Given the description of an element on the screen output the (x, y) to click on. 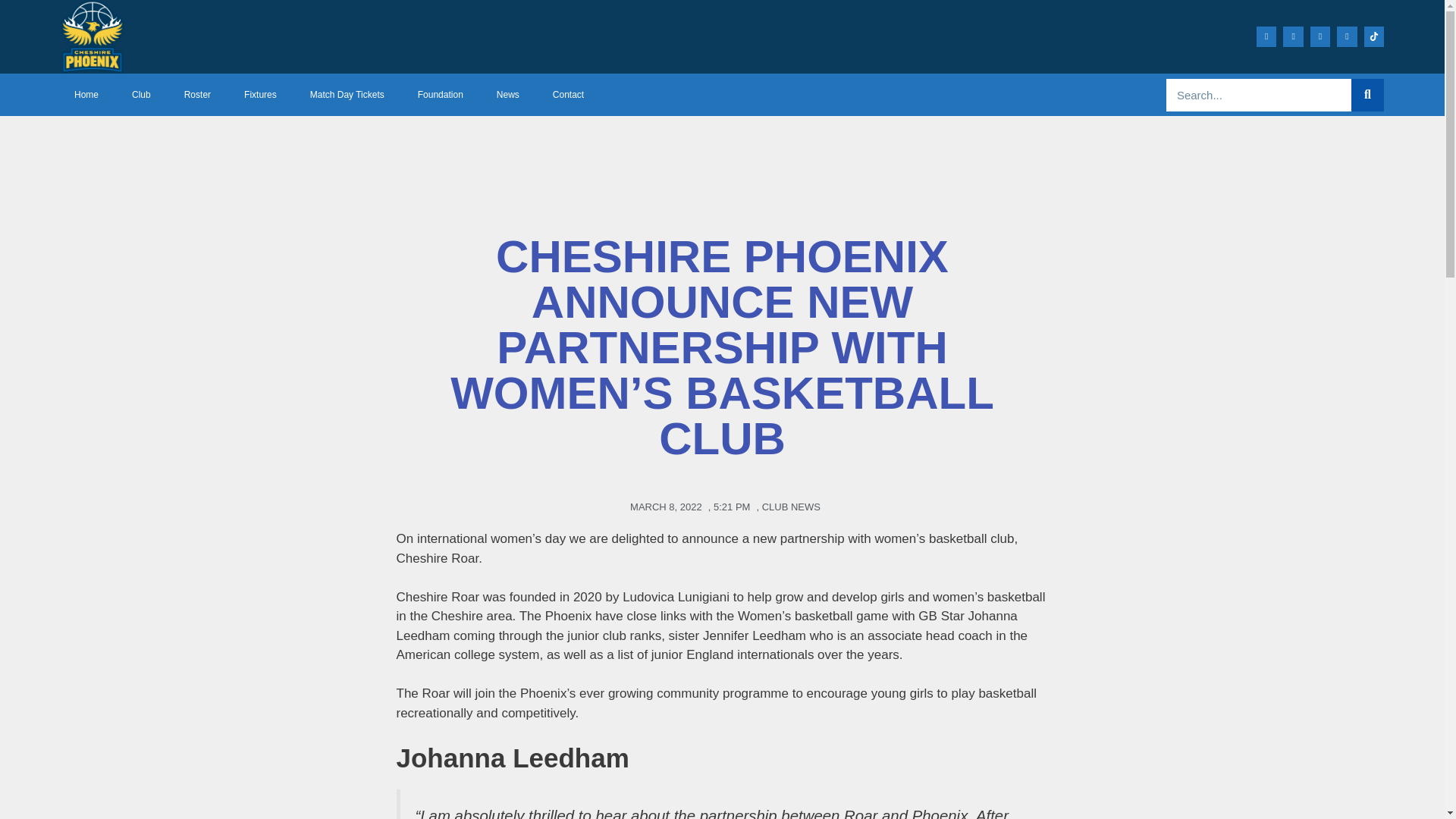
Foundation (440, 94)
Match Day Tickets (347, 94)
Club (140, 94)
CLUB NEWS (791, 505)
Fixtures (259, 94)
Roster (197, 94)
MARCH 8, 2022 (662, 506)
News (507, 94)
Contact (567, 94)
Home (86, 94)
